Given the description of an element on the screen output the (x, y) to click on. 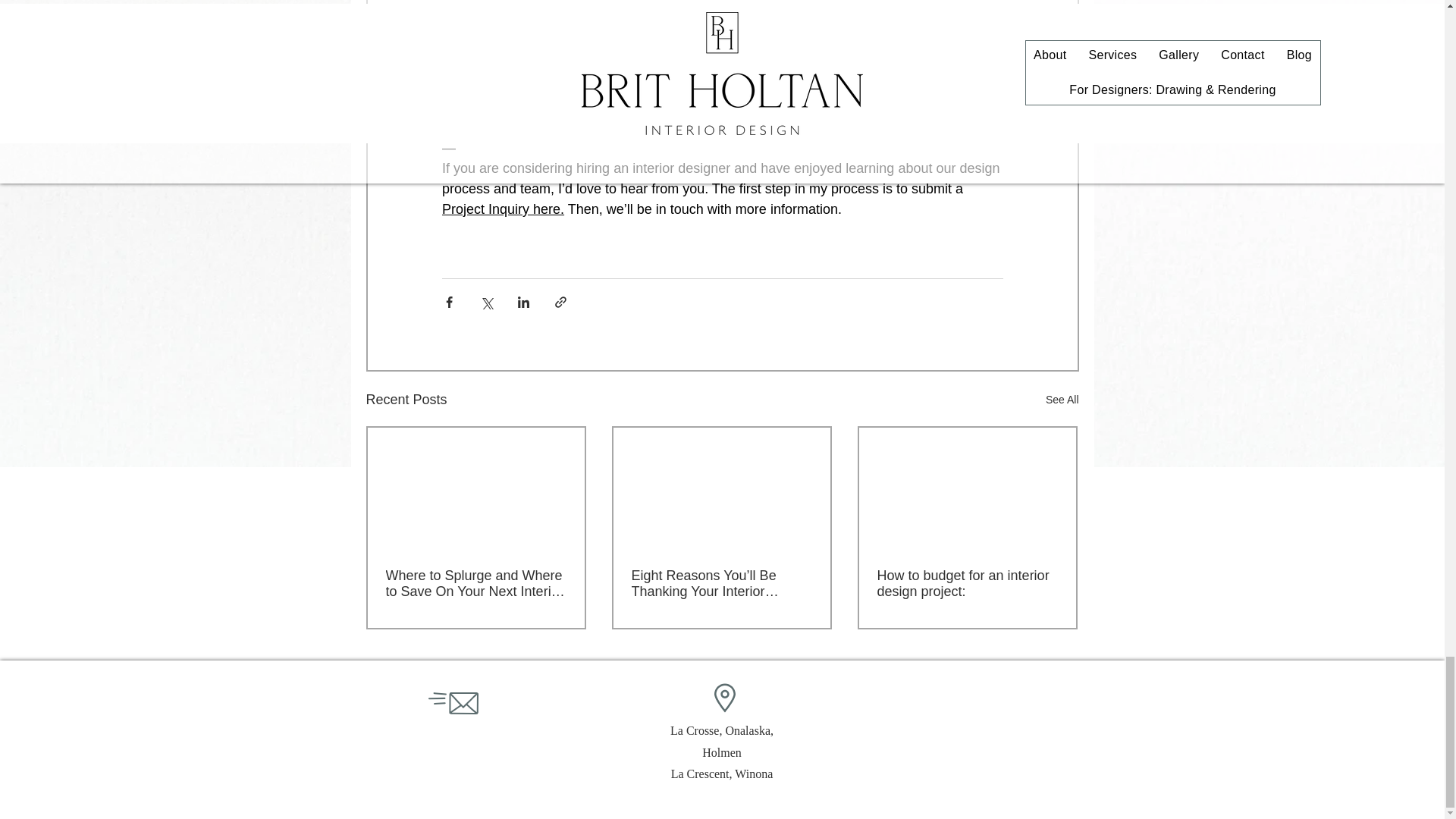
Project Inquiry here. (502, 209)
How to budget for an interior design project: (966, 583)
See All (1061, 400)
